Given the description of an element on the screen output the (x, y) to click on. 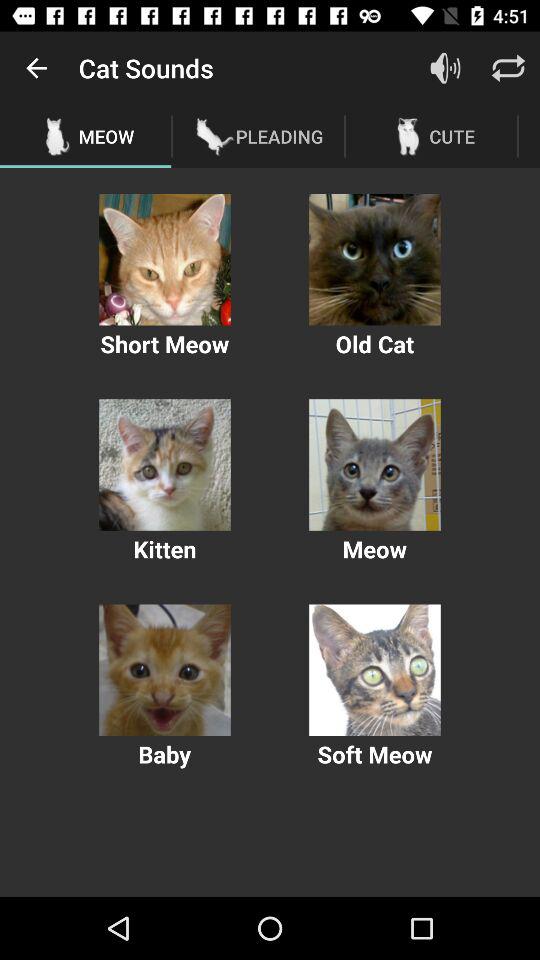
makes a baby kitten sound (164, 669)
